Given the description of an element on the screen output the (x, y) to click on. 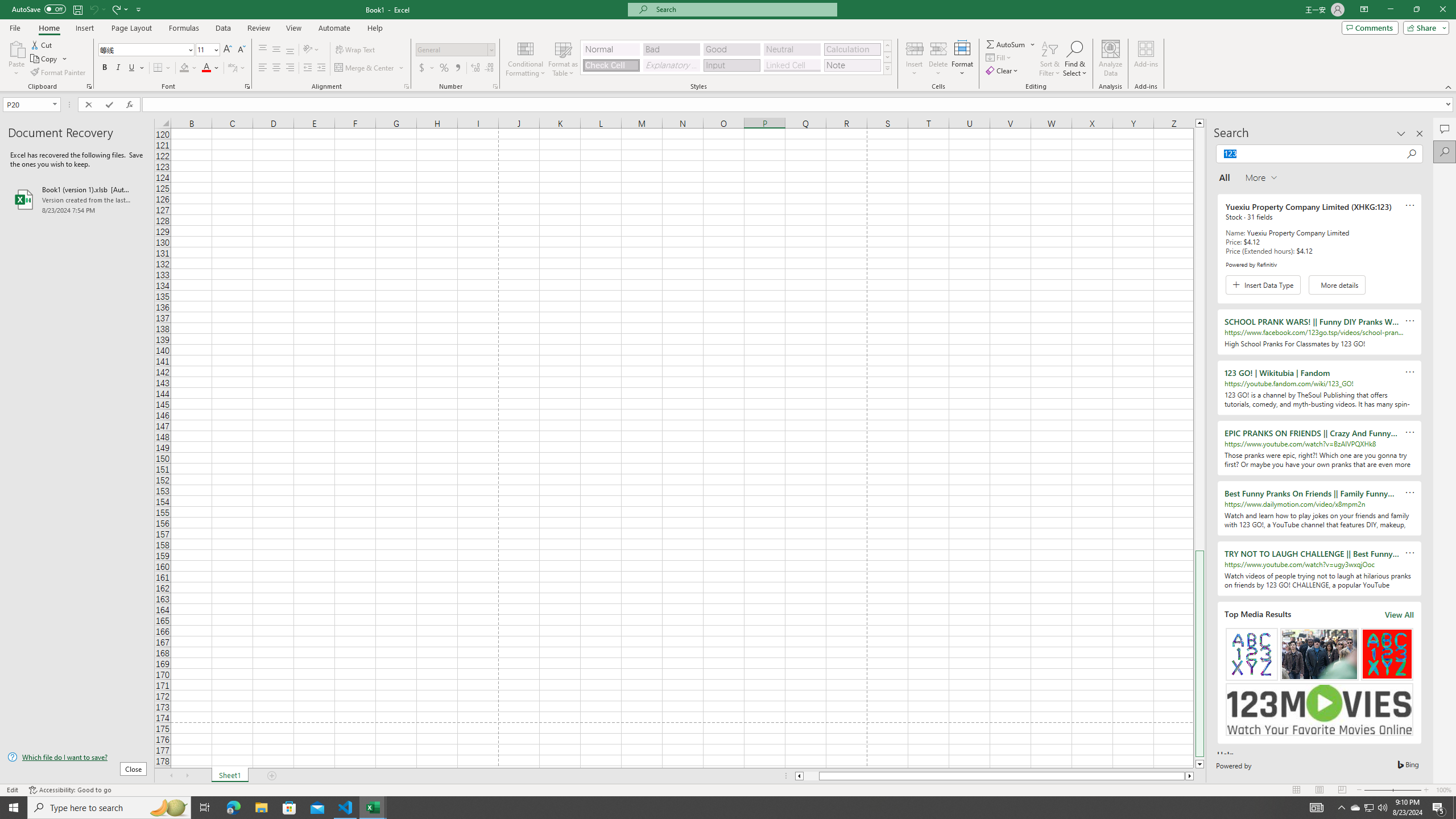
Decrease Decimal (489, 67)
Accounting Number Format (422, 67)
Font Color RGB(255, 0, 0) (206, 67)
Sort & Filter (1049, 58)
Borders (162, 67)
Number Format (455, 49)
Linked Cell (791, 65)
Accounting Number Format (426, 67)
Copy (49, 58)
